Given the description of an element on the screen output the (x, y) to click on. 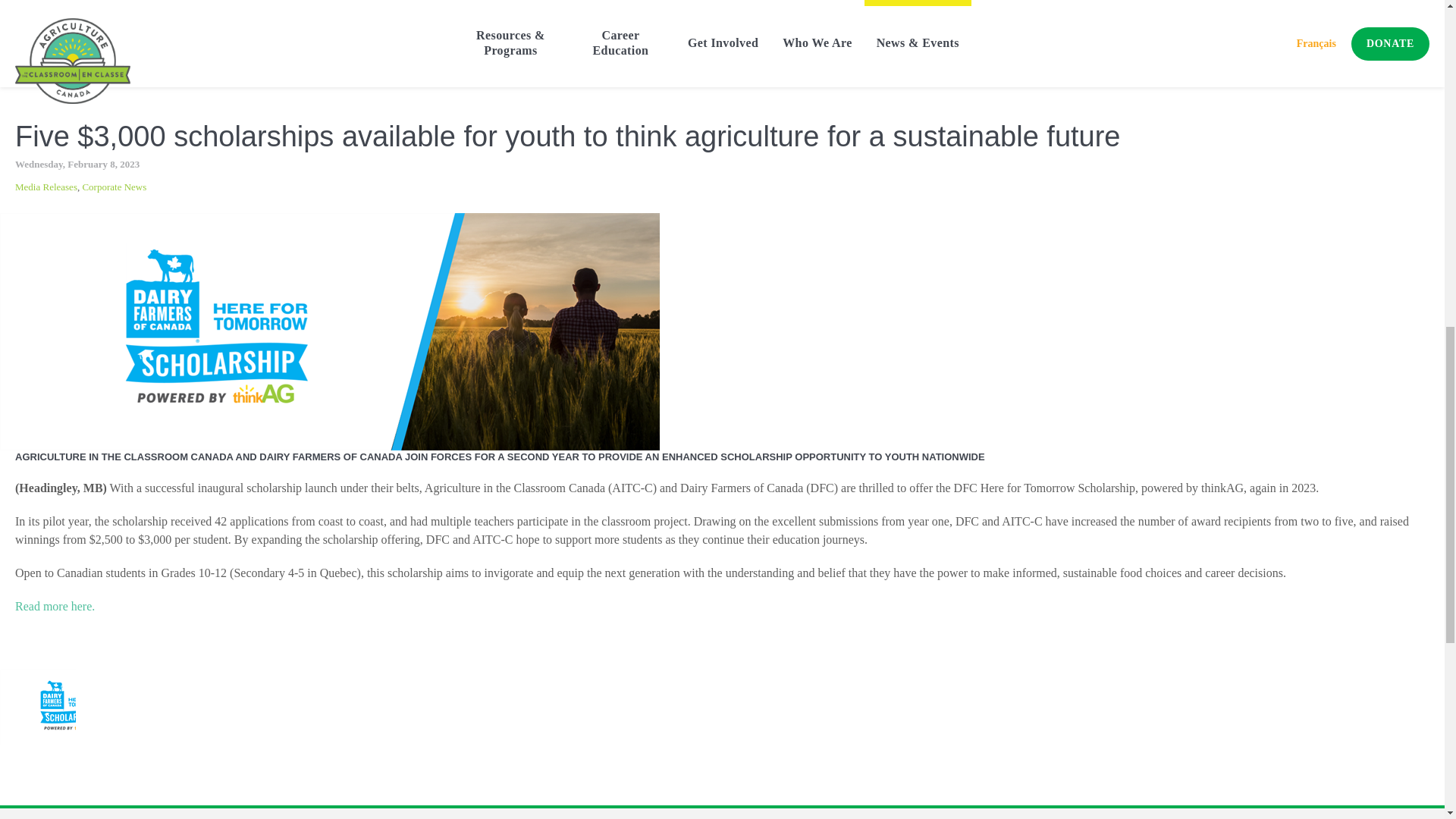
Request AITC-Canada High-Res Logo (93, 3)
